Given the description of an element on the screen output the (x, y) to click on. 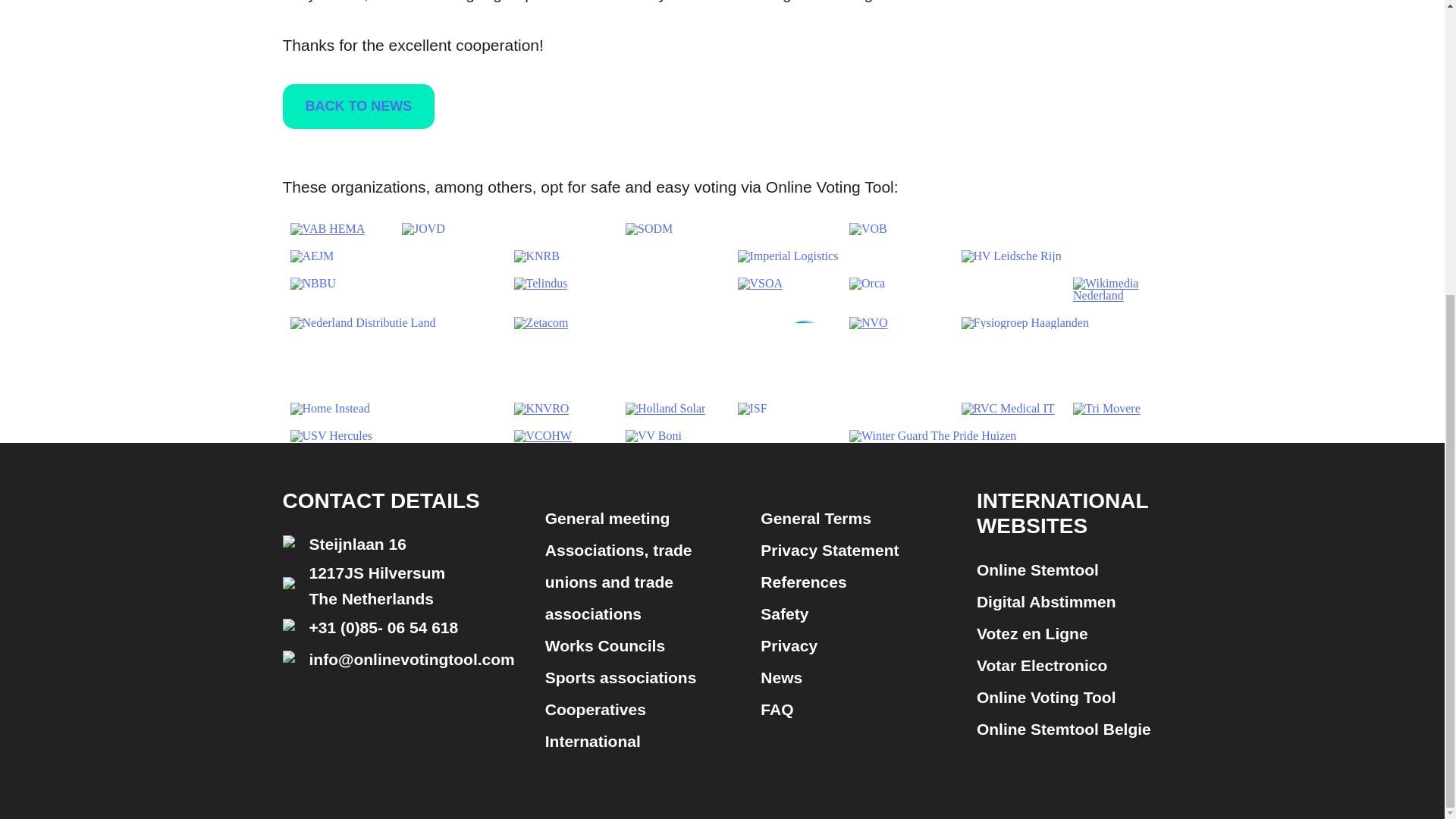
BACK TO NEWS (357, 106)
